Given the description of an element on the screen output the (x, y) to click on. 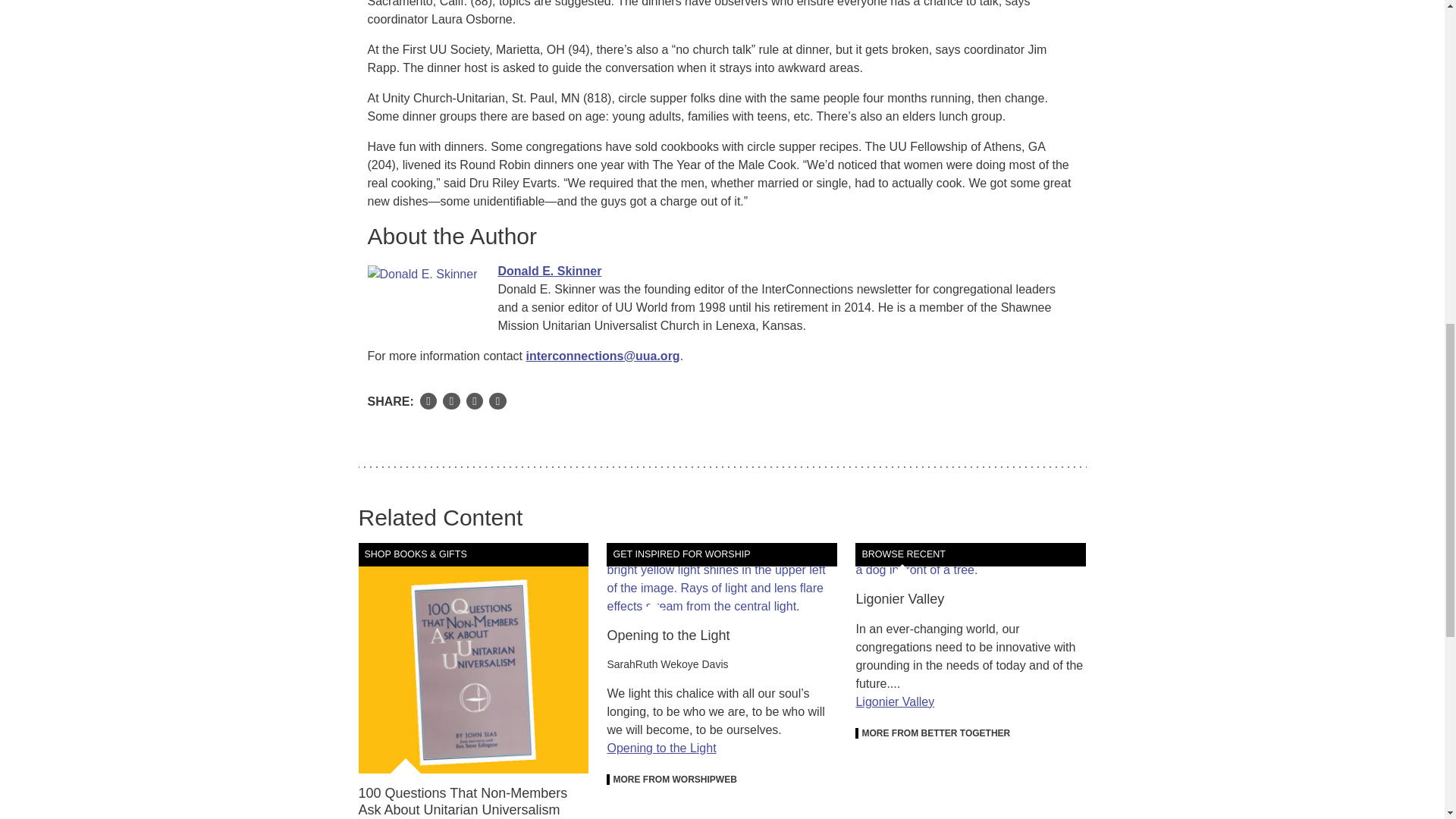
Photo by user kalhh on pixabay.com (722, 578)
Share on Facebook (429, 401)
Share by email (474, 401)
Share on Twitter (451, 401)
Print this page (497, 401)
